Given the description of an element on the screen output the (x, y) to click on. 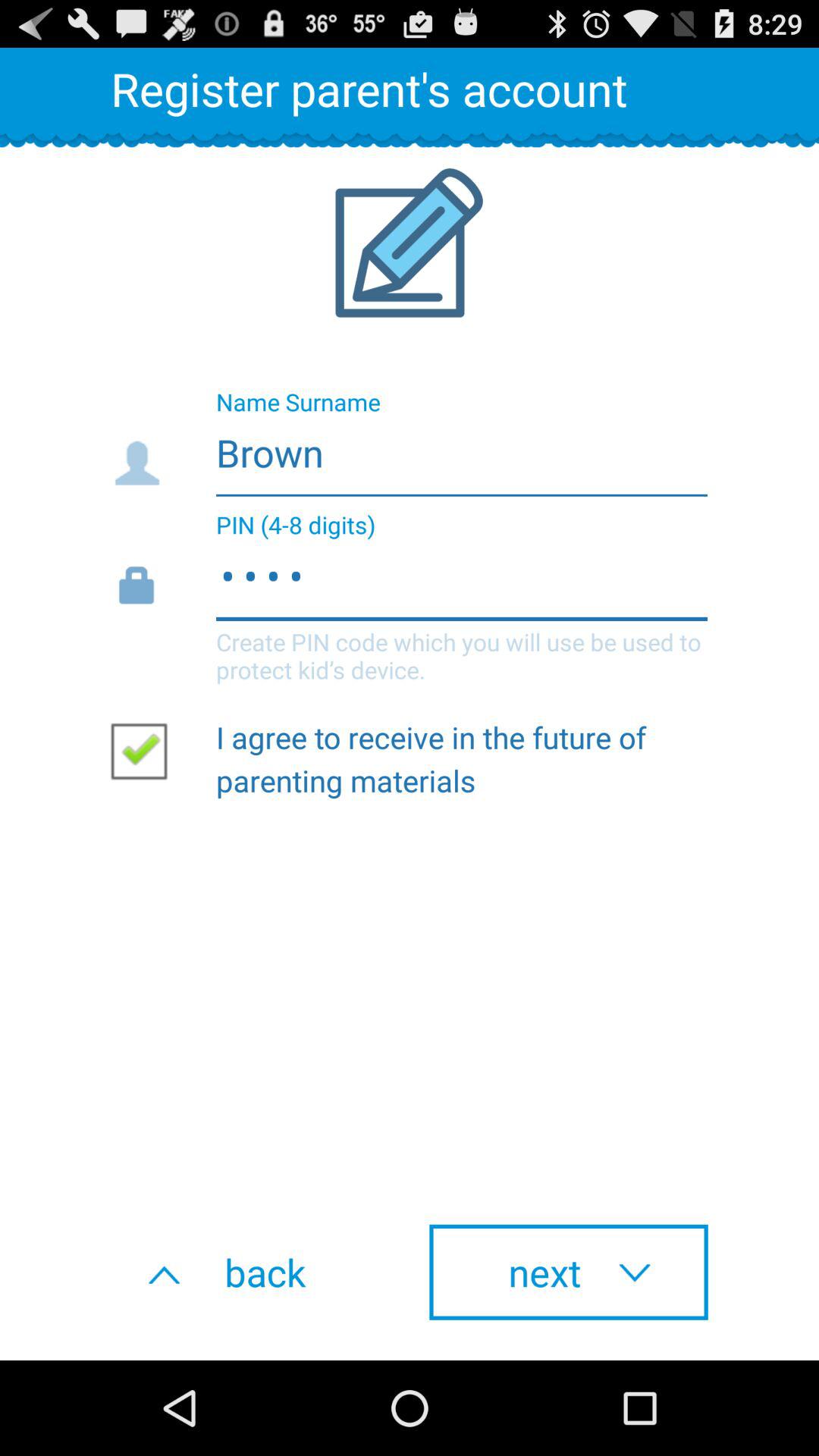
select the icon below i agree to icon (249, 1272)
